Given the description of an element on the screen output the (x, y) to click on. 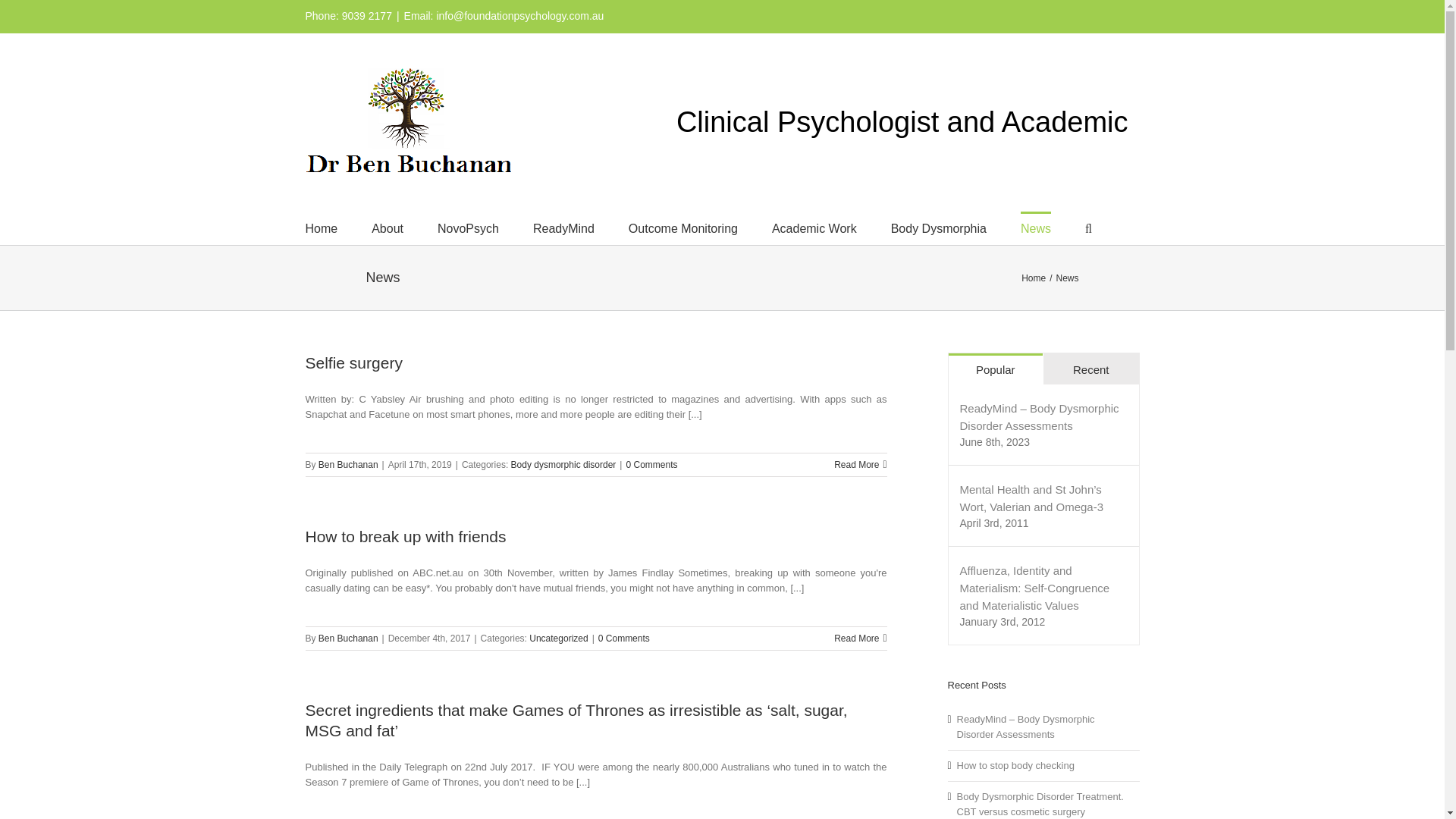
About (387, 227)
0 Comments (651, 464)
Selfie surgery (352, 362)
Body Dysmorphia (939, 227)
Outcome Monitoring (683, 227)
Ben Buchanan (348, 464)
Posts by Ben Buchanan (348, 464)
Home (1033, 277)
Academic Work (814, 227)
Home (320, 227)
